Given the description of an element on the screen output the (x, y) to click on. 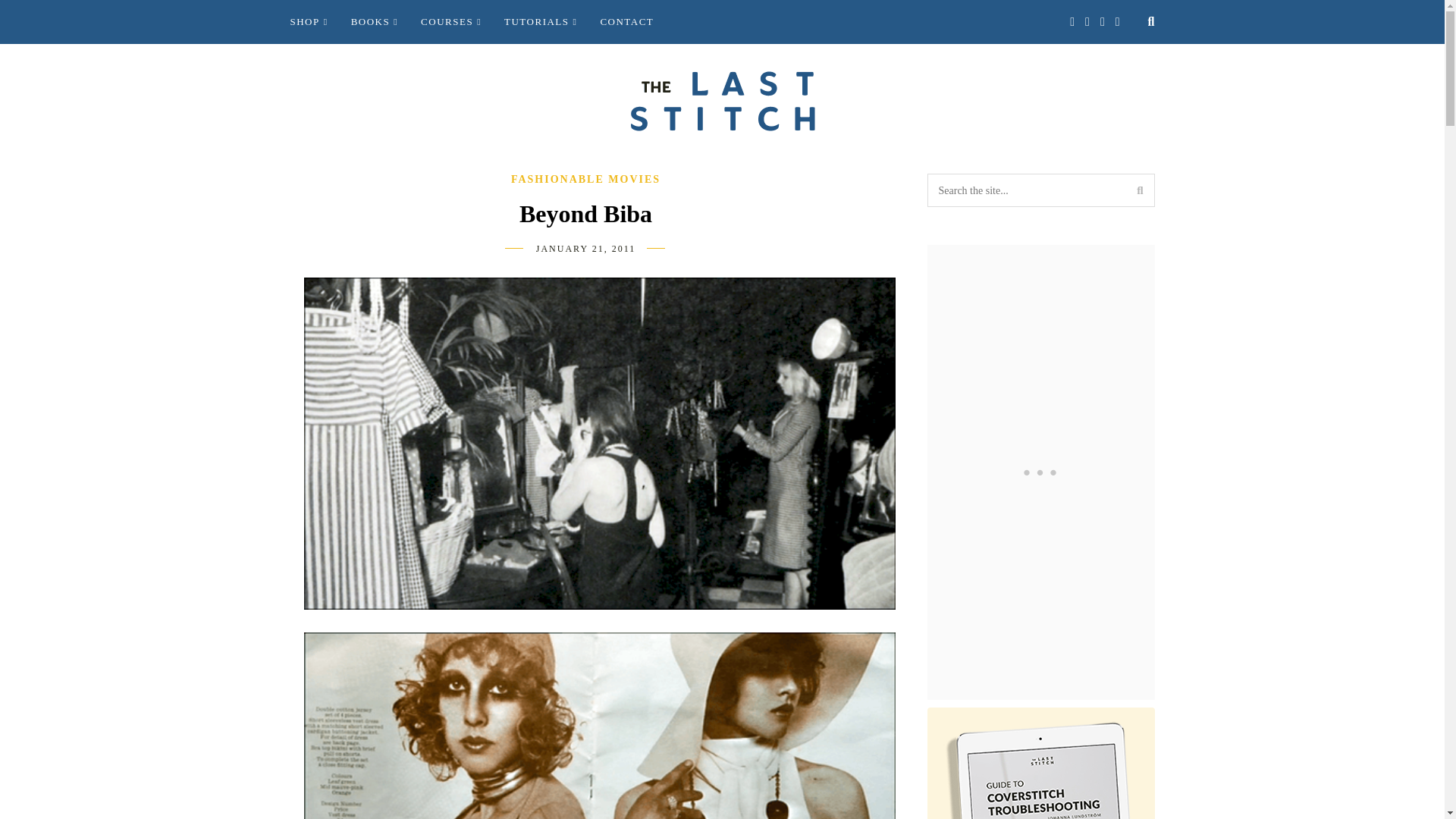
BOOKS (373, 22)
CONTACT (626, 22)
COURSES (450, 22)
TUTORIALS (539, 22)
